Given the description of an element on the screen output the (x, y) to click on. 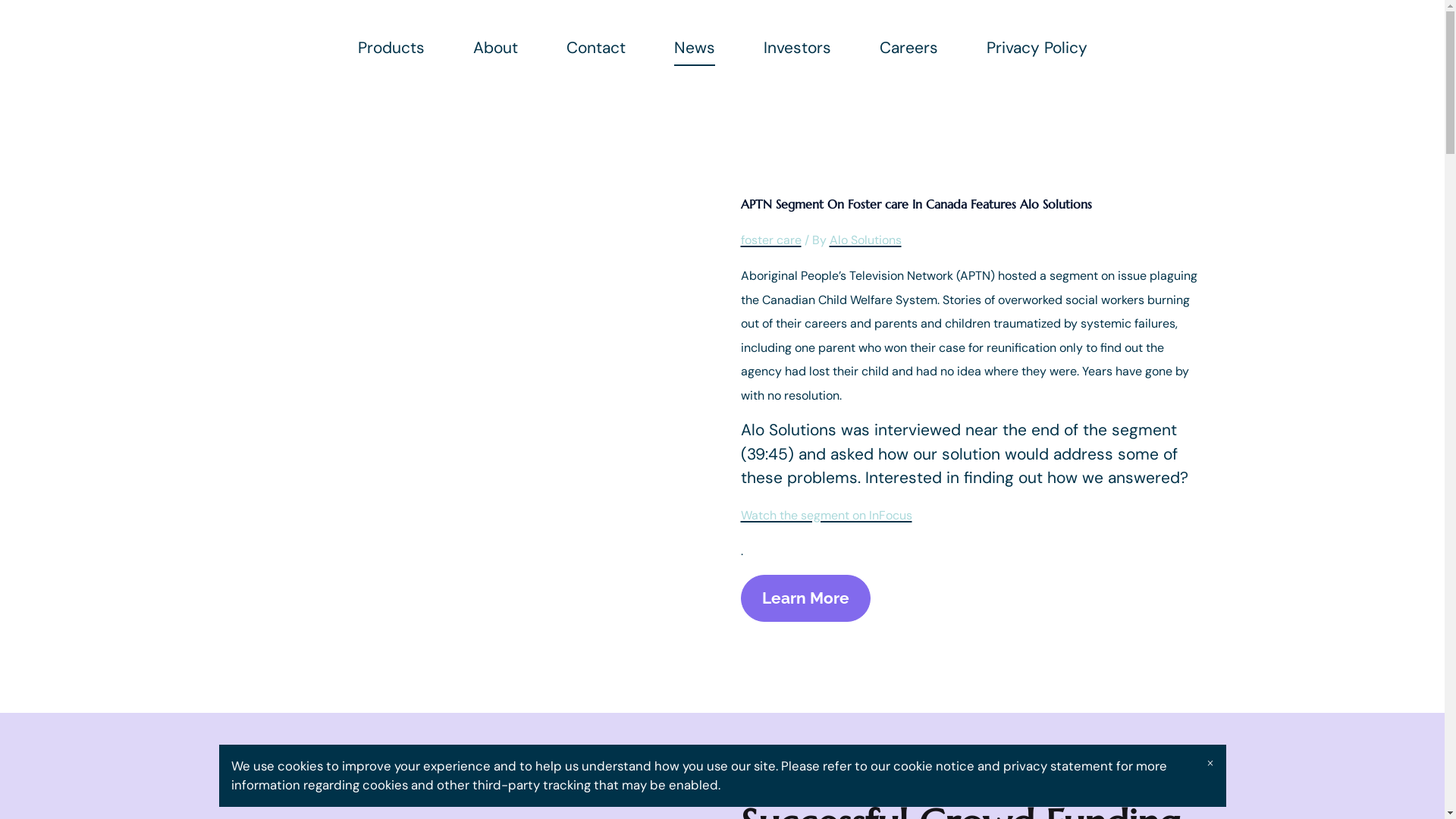
Alo Solutions Element type: text (865, 238)
Contact Element type: text (594, 47)
Privacy Policy Element type: text (1035, 47)
foster care Element type: text (770, 238)
Careers Element type: text (908, 47)
Watch the segment on InFocus Element type: text (825, 513)
News Element type: text (693, 51)
About Element type: text (495, 47)
Products Element type: text (390, 47)
Investors Element type: text (796, 47)
Learn More Element type: text (804, 597)
